Given the description of an element on the screen output the (x, y) to click on. 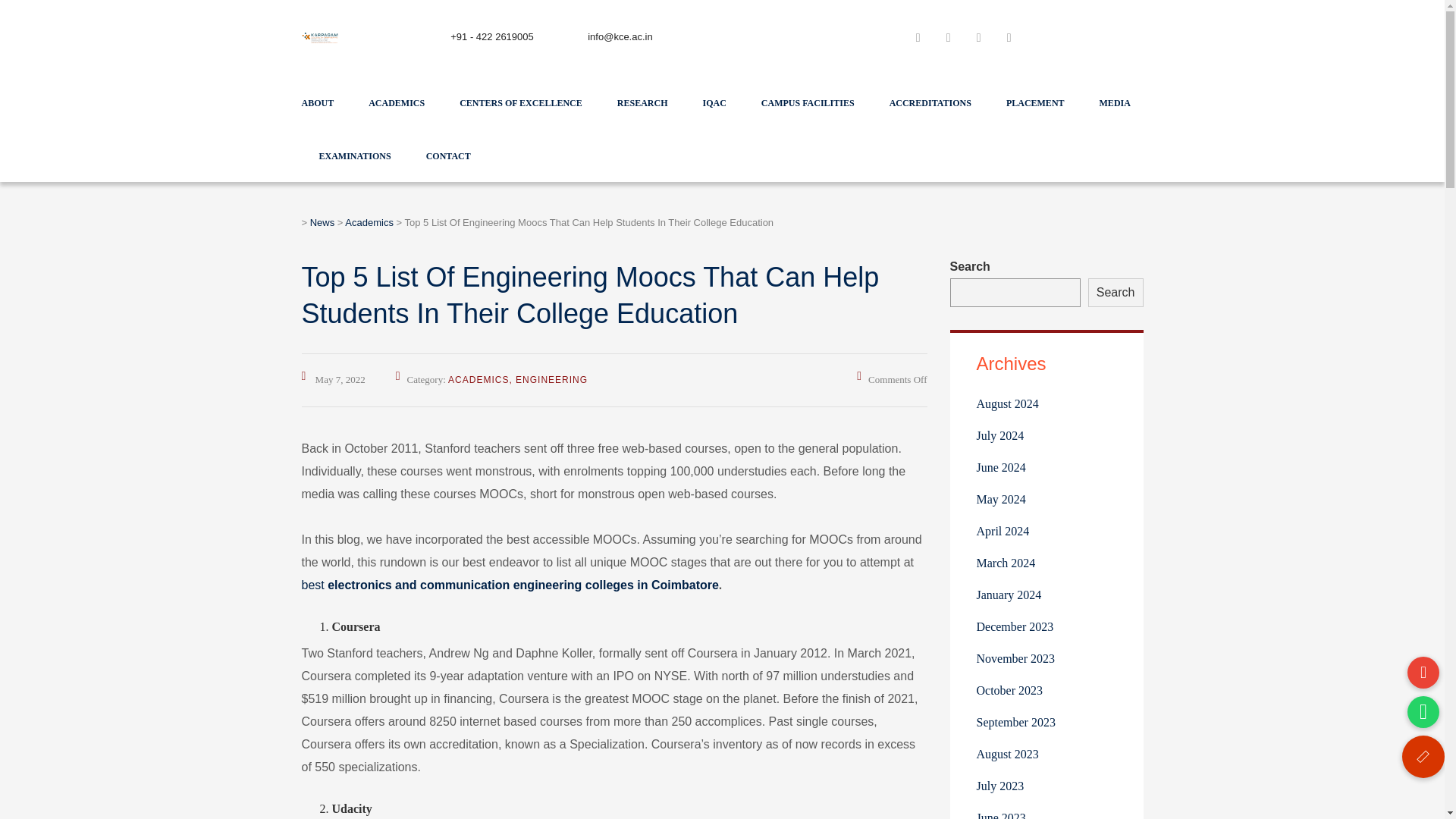
Go to News. (322, 222)
RESEARCH (642, 102)
CENTERS OF EXCELLENCE (521, 102)
CAMPUS FACILITIES (807, 102)
Go to the Academics category archives. (369, 222)
ACADEMICS (396, 102)
